Given the description of an element on the screen output the (x, y) to click on. 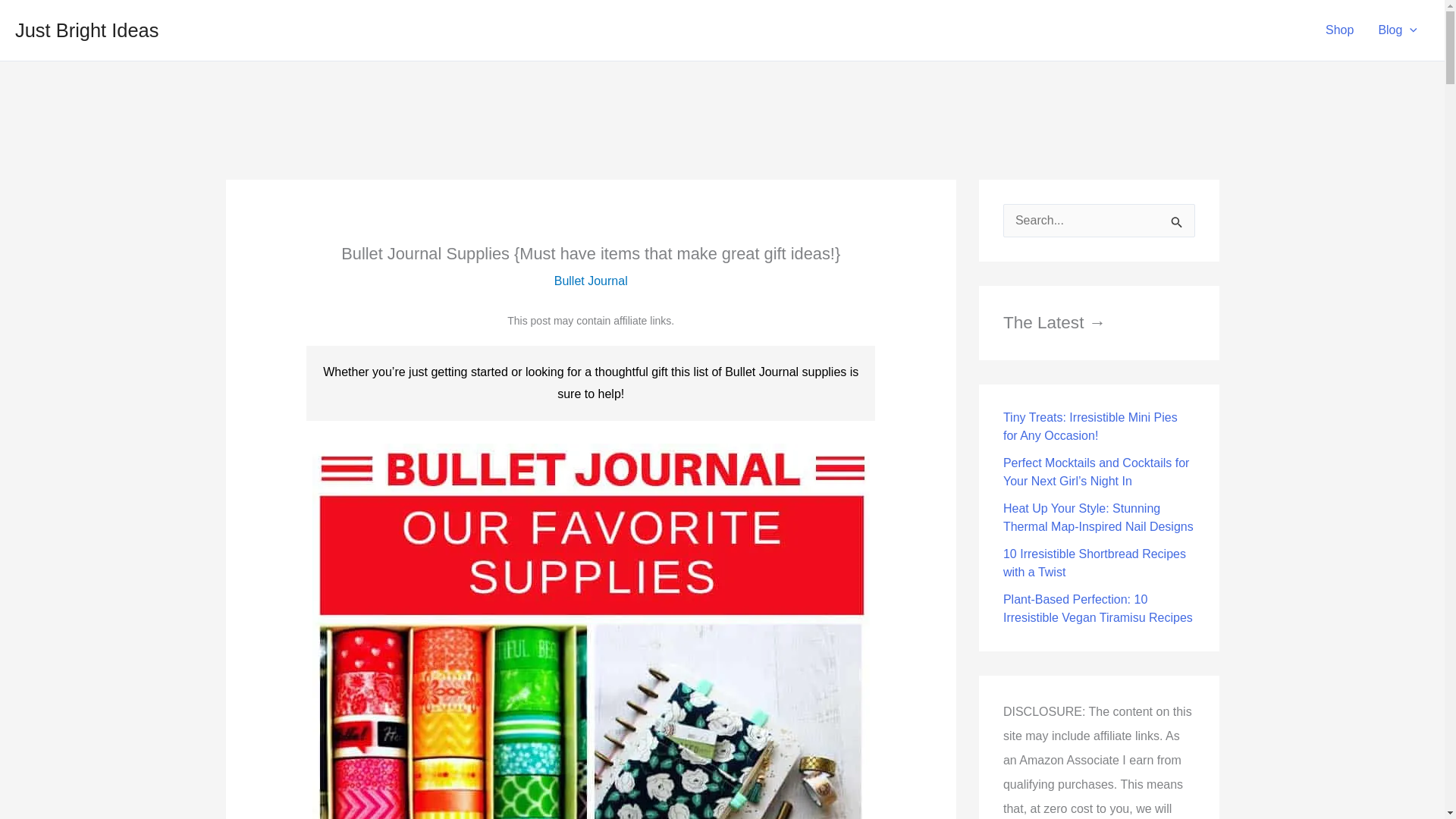
Bullet Journal (590, 280)
Blog (1397, 30)
Just Bright Ideas (86, 29)
